Given the description of an element on the screen output the (x, y) to click on. 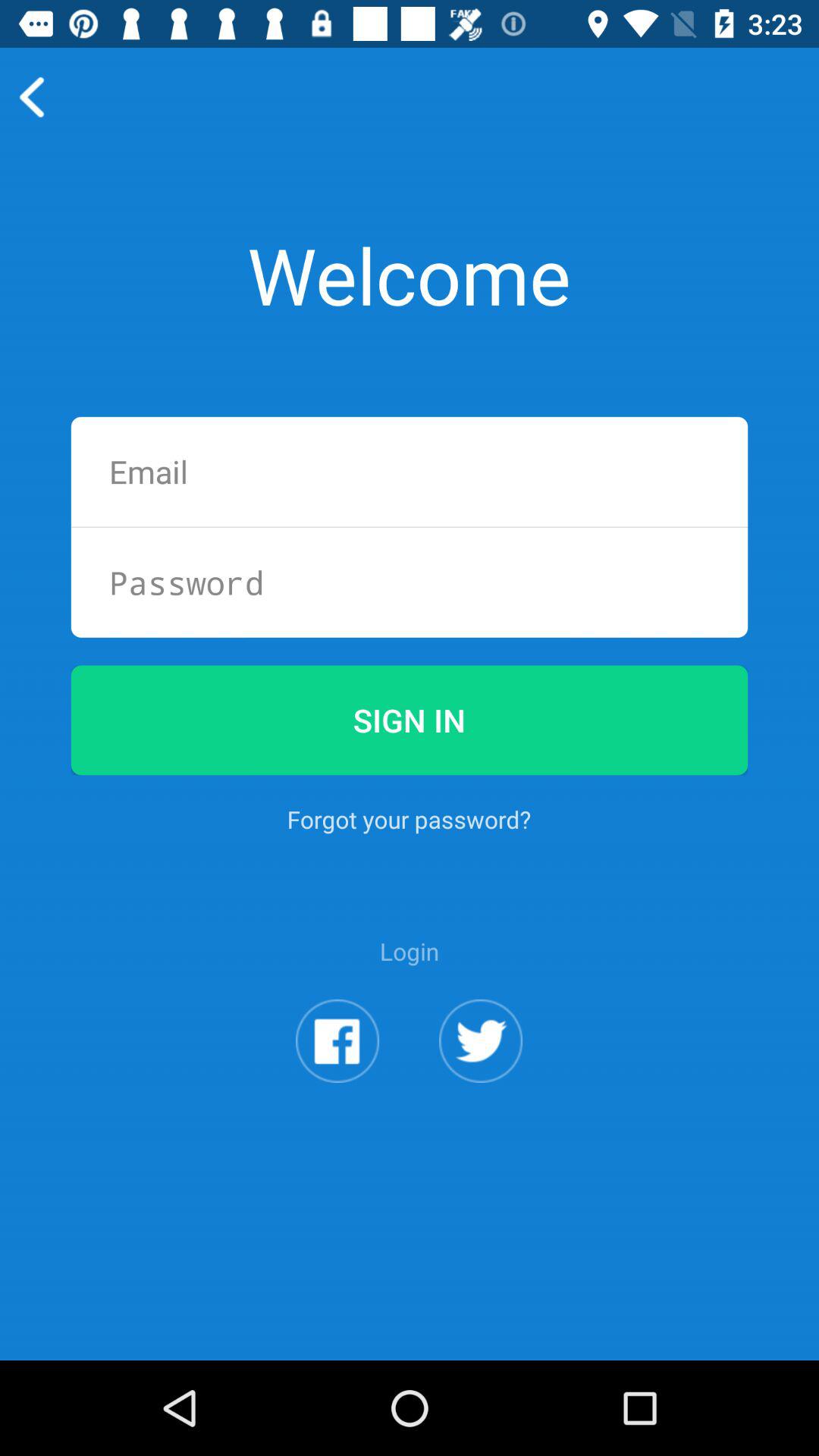
email input box (409, 471)
